Given the description of an element on the screen output the (x, y) to click on. 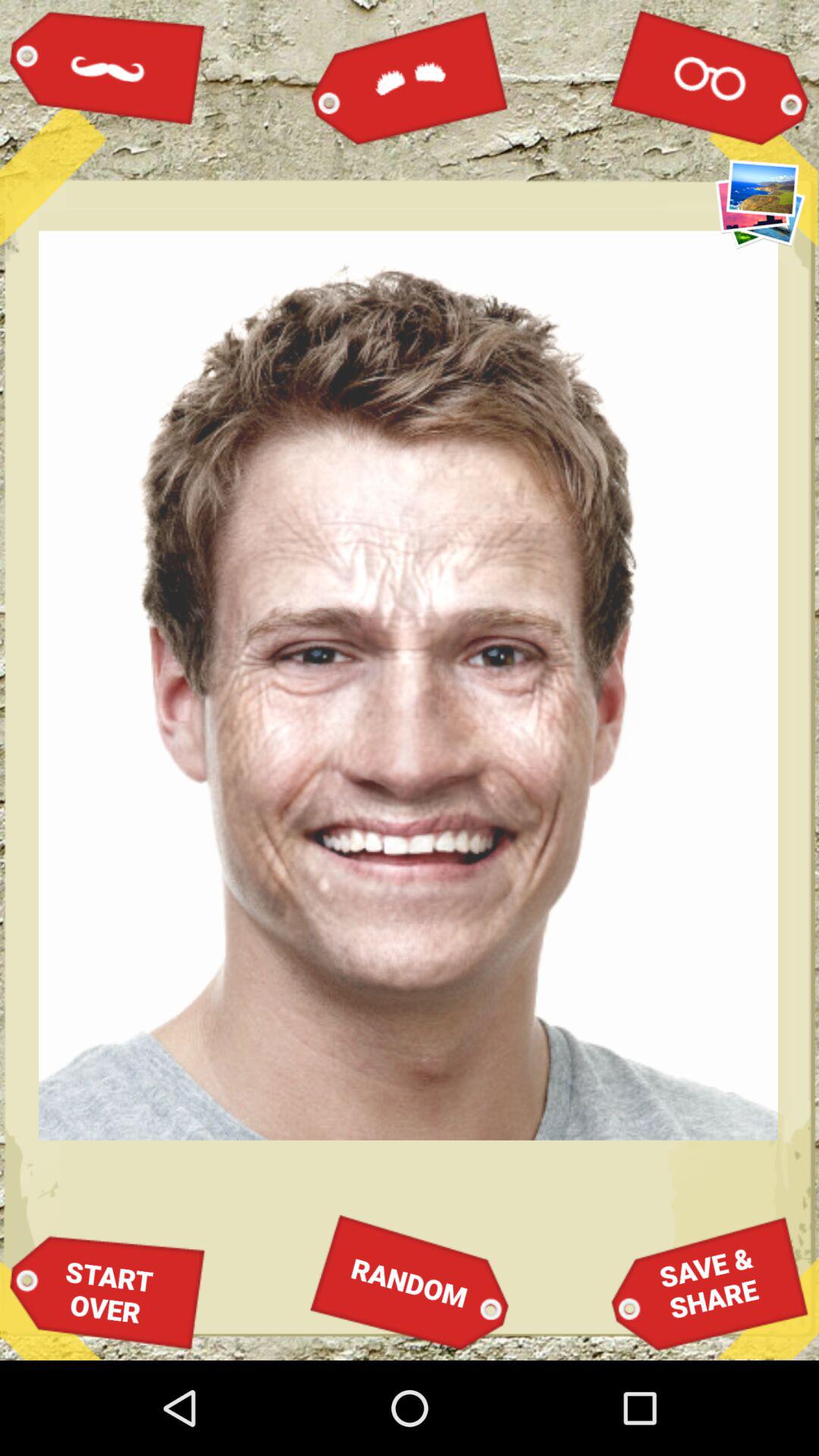
launch icon to the left of random item (107, 1292)
